Given the description of an element on the screen output the (x, y) to click on. 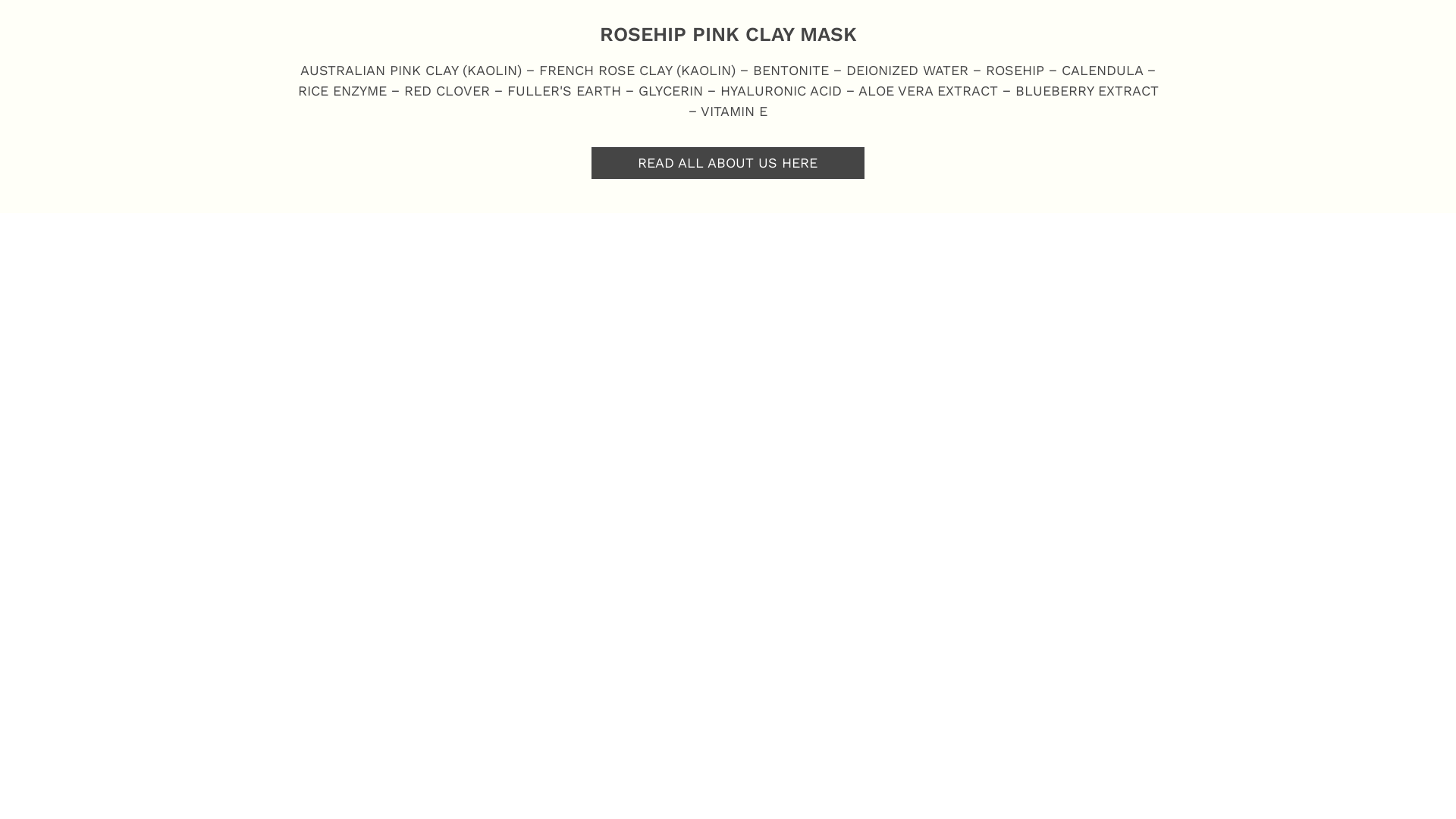
READ ALL ABOUT US HERE Element type: text (727, 162)
